Given the description of an element on the screen output the (x, y) to click on. 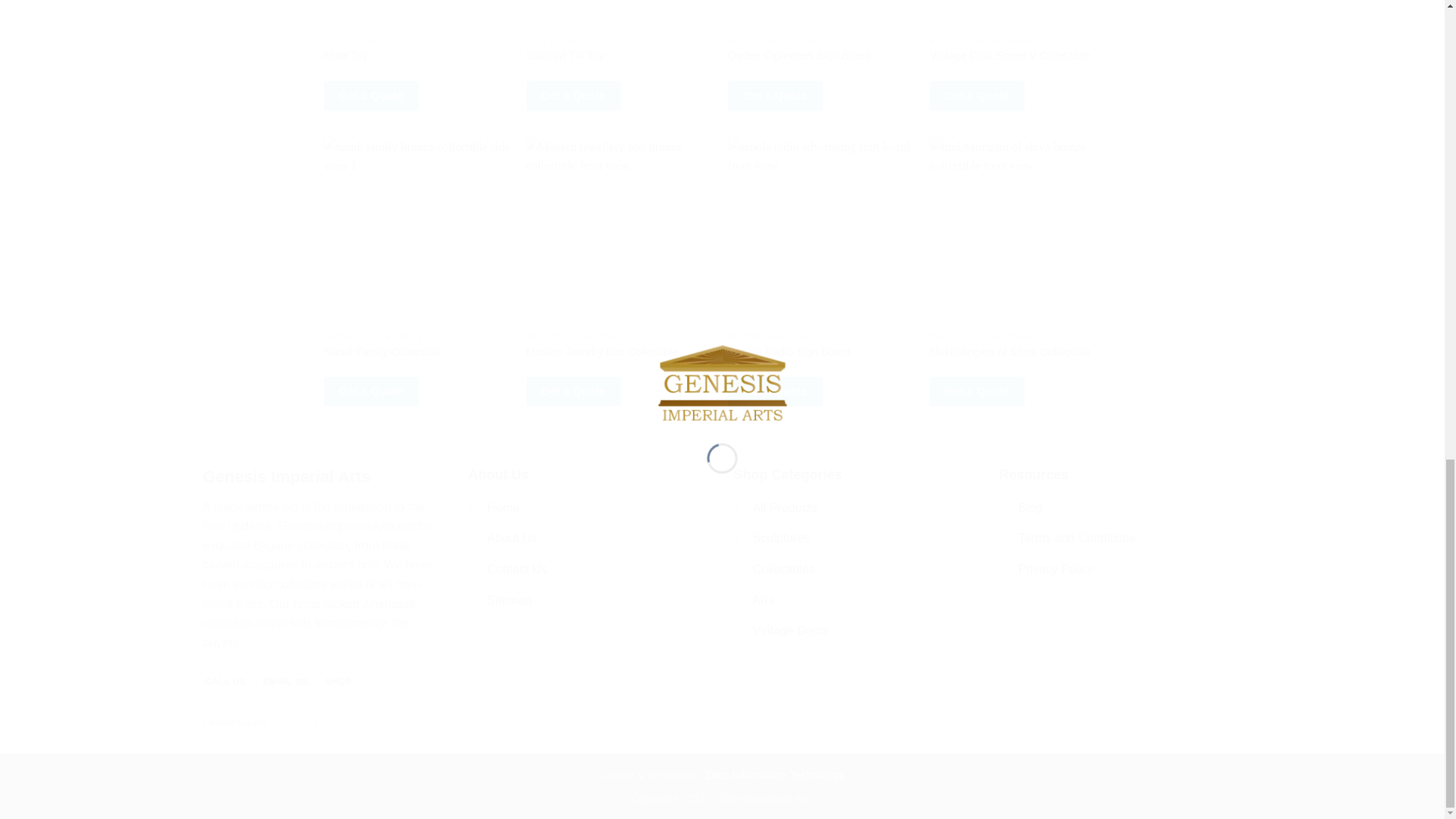
Follow on Instagram (301, 721)
Follow on Facebook (282, 721)
